Given the description of an element on the screen output the (x, y) to click on. 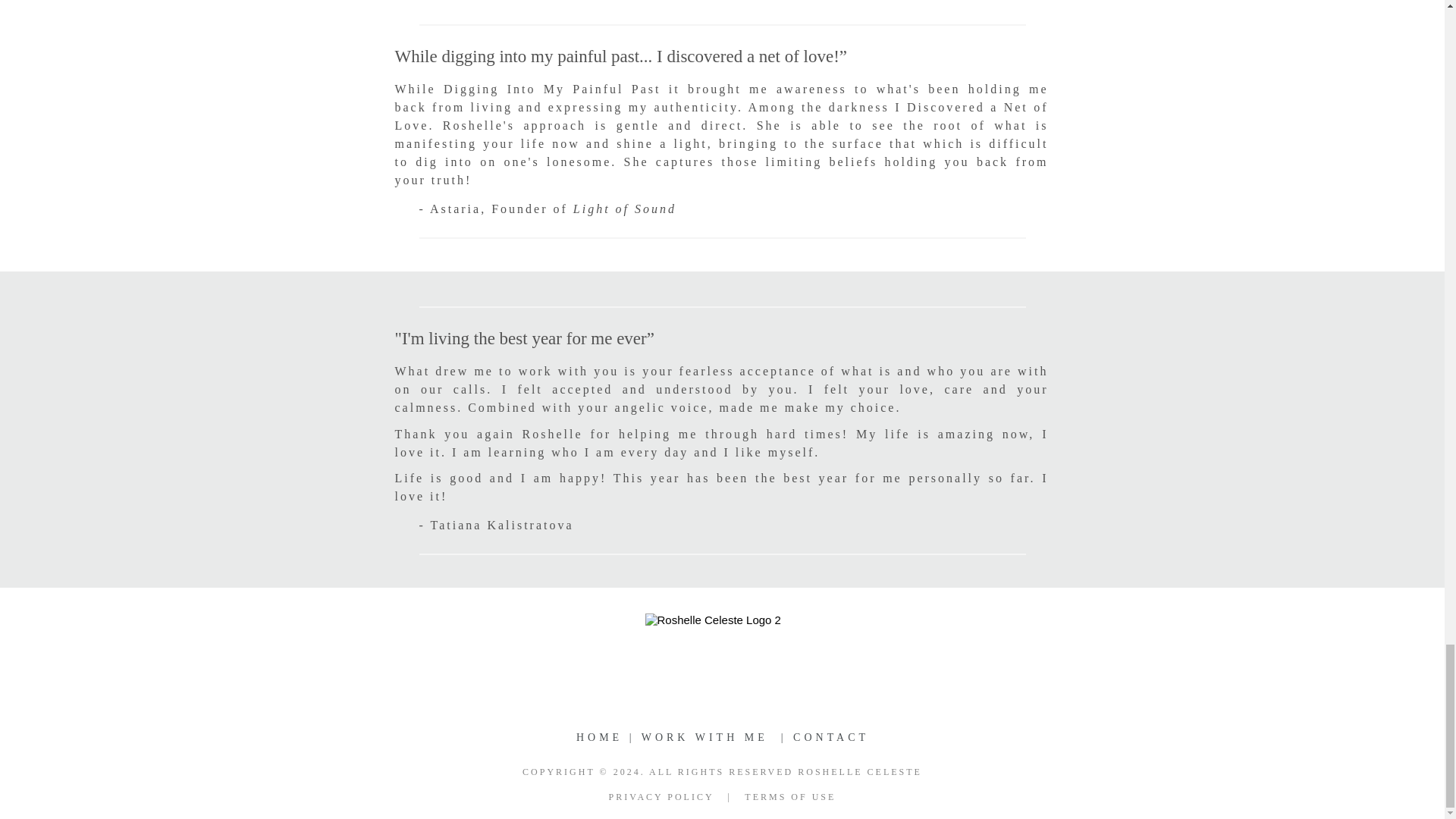
TERMS OF USE (789, 796)
WORK WITH ME (705, 737)
HOME (599, 737)
CONTACT (831, 737)
PRIVACY POLICY (661, 796)
Roshelle Celeste Logo 2 (722, 643)
